Given the description of an element on the screen output the (x, y) to click on. 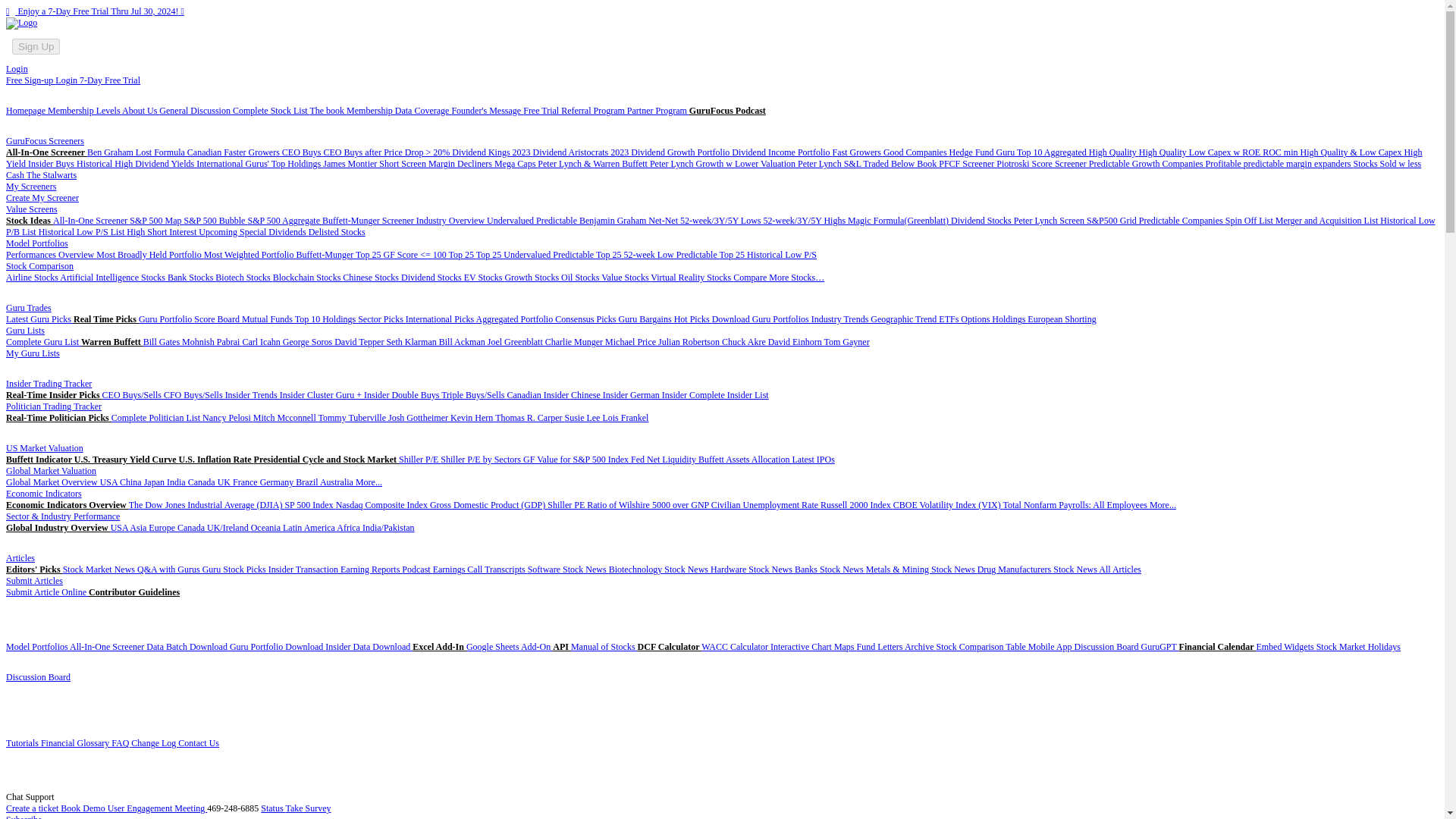
Hedge Fund Guru Top 10 Aggregated (1019, 152)
GuruFocus Podcast (726, 110)
Membership Levels (85, 110)
Fast Growers (857, 152)
Canadian Faster Growers (234, 152)
Historical High Dividend Yields (136, 163)
Complete Stock List (270, 110)
Founder's Message (486, 110)
Login (16, 68)
General Discussion (195, 110)
CEO Buys (302, 152)
Good Companies (916, 152)
Free Trial (541, 110)
Partner Program (657, 110)
High Quality Low Capex w ROE ROC min (1219, 152)
